Given the description of an element on the screen output the (x, y) to click on. 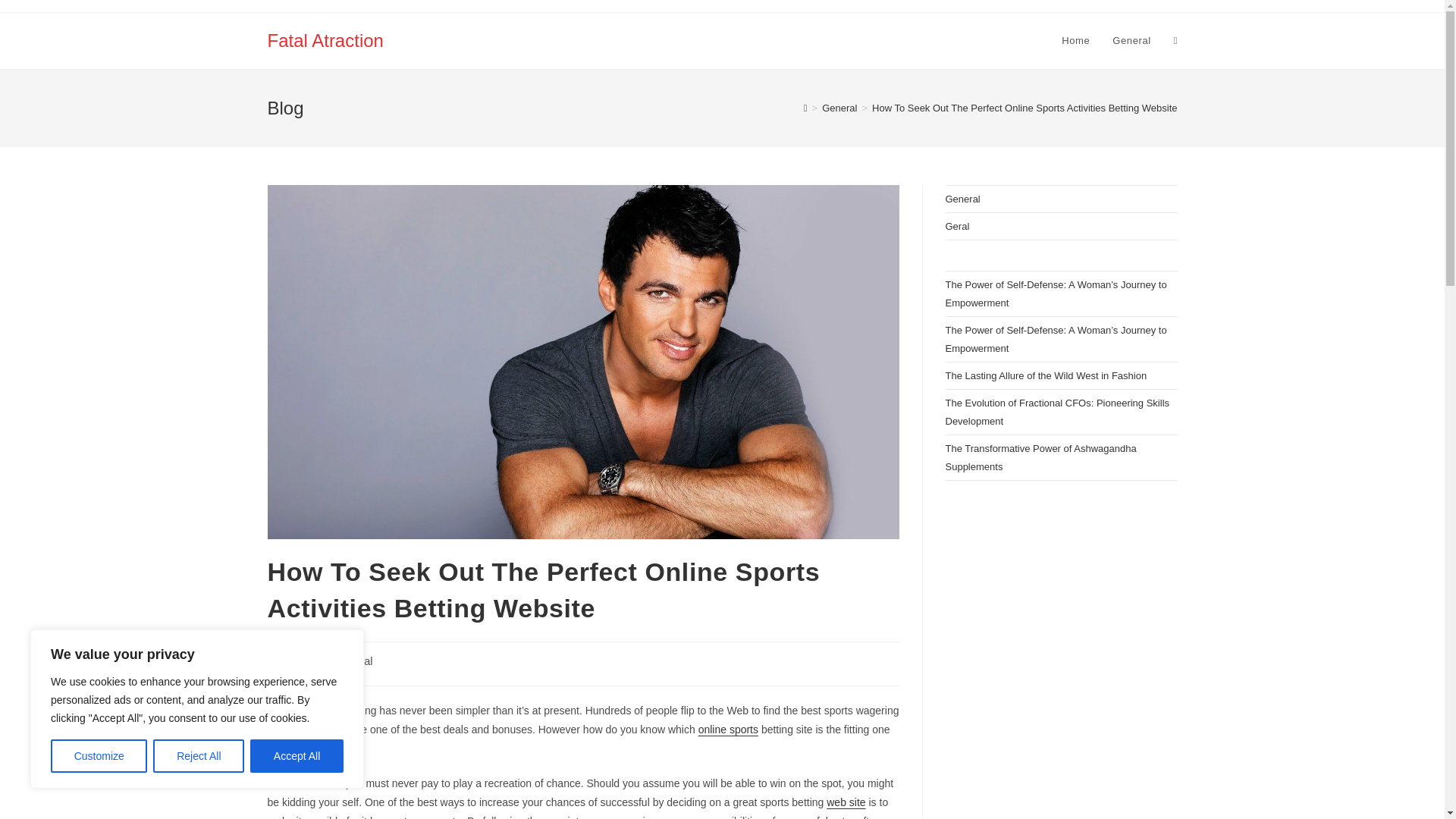
General (1130, 40)
Reject All (198, 756)
online sports (728, 729)
Fatal Atraction (324, 40)
Home (1074, 40)
web site (845, 802)
Accept All (296, 756)
General (352, 661)
General (839, 107)
Customize (98, 756)
Toggle website search (1175, 40)
